Given the description of an element on the screen output the (x, y) to click on. 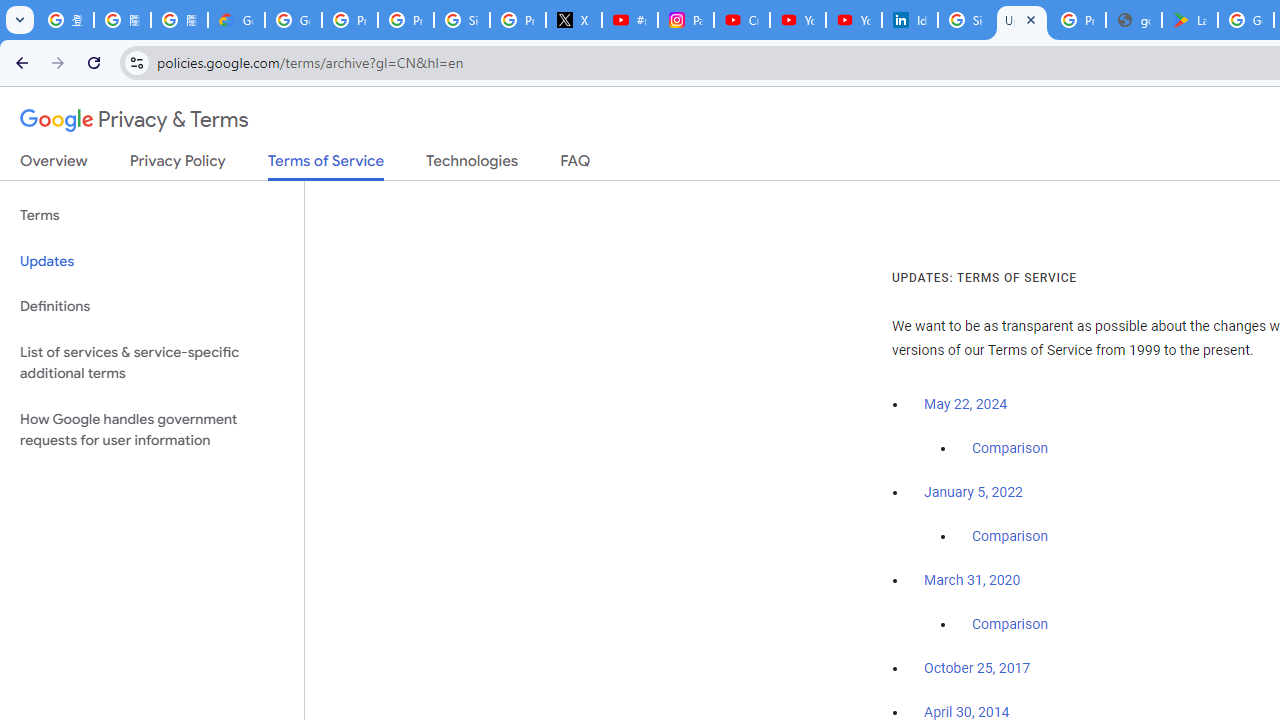
Comparison (1009, 625)
Google Cloud Privacy Notice (235, 20)
October 25, 2017 (977, 669)
YouTube Culture & Trends - YouTube Top 10, 2021 (853, 20)
Sign in - Google Accounts (461, 20)
X (573, 20)
